Given the description of an element on the screen output the (x, y) to click on. 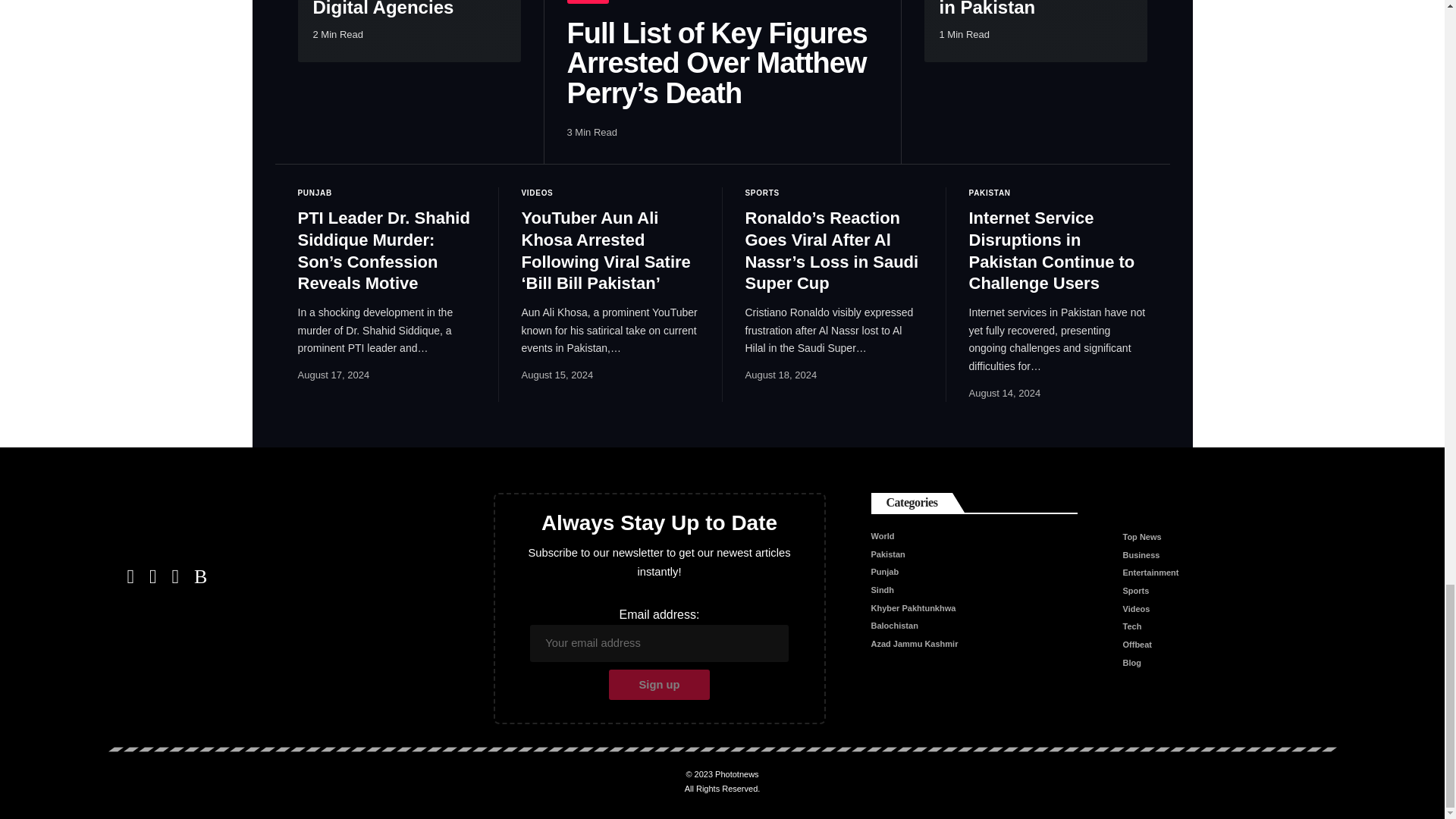
Sign up (659, 684)
